Given the description of an element on the screen output the (x, y) to click on. 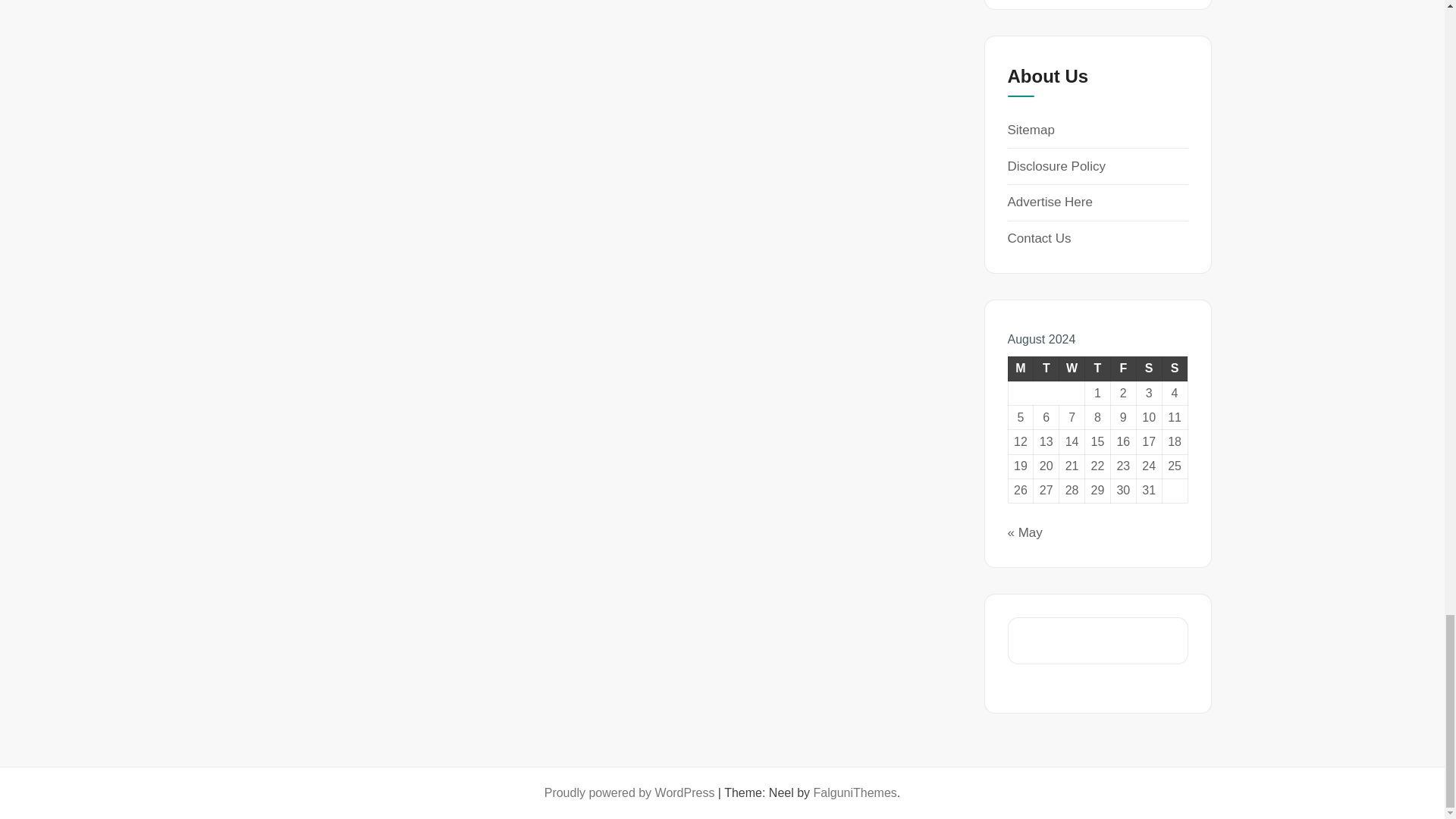
Thursday (1097, 368)
Wednesday (1071, 368)
Friday (1122, 368)
Tuesday (1046, 368)
Sunday (1174, 368)
Monday (1020, 368)
Saturday (1148, 368)
